Given the description of an element on the screen output the (x, y) to click on. 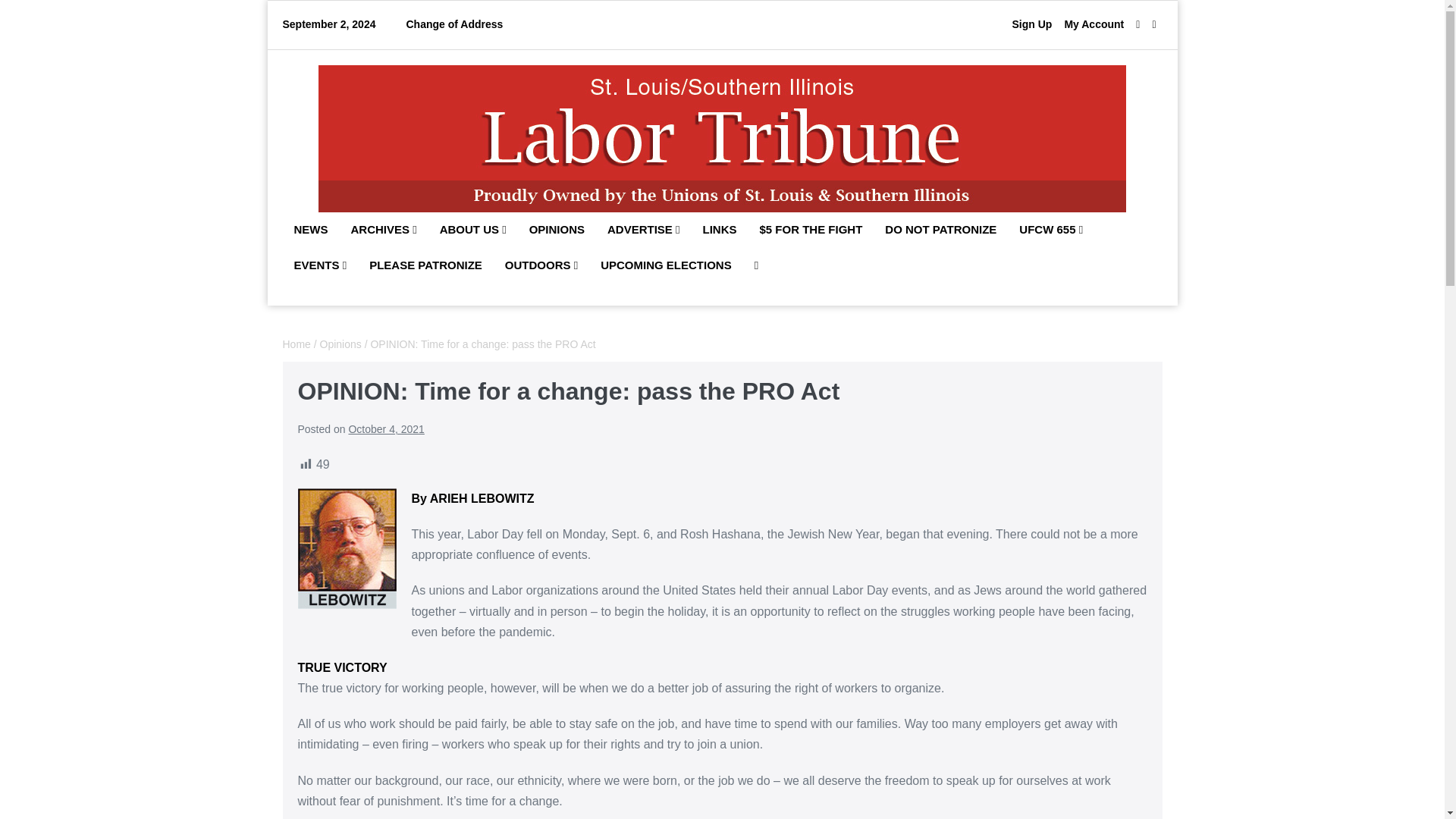
Change of Address (454, 24)
ADVERTISE (643, 230)
Sign Up (1032, 24)
UPCOMING ELECTIONS (665, 266)
The Labor Tribune (721, 138)
LINKS (719, 230)
ABOUT US (473, 230)
OUTDOORS (541, 266)
ARCHIVES (383, 230)
NEWS (310, 230)
